Given the description of an element on the screen output the (x, y) to click on. 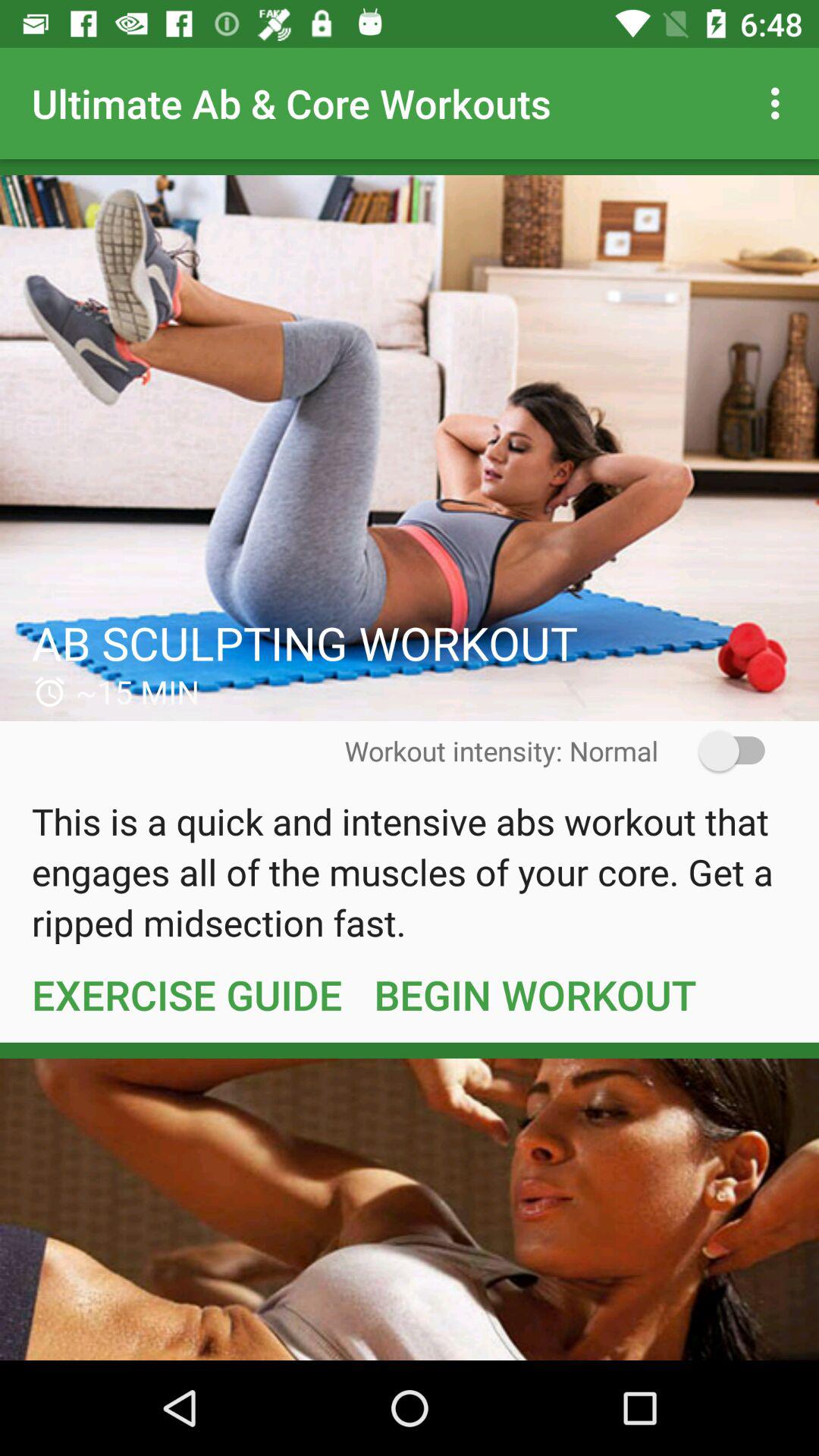
click item below the this is a (535, 994)
